Given the description of an element on the screen output the (x, y) to click on. 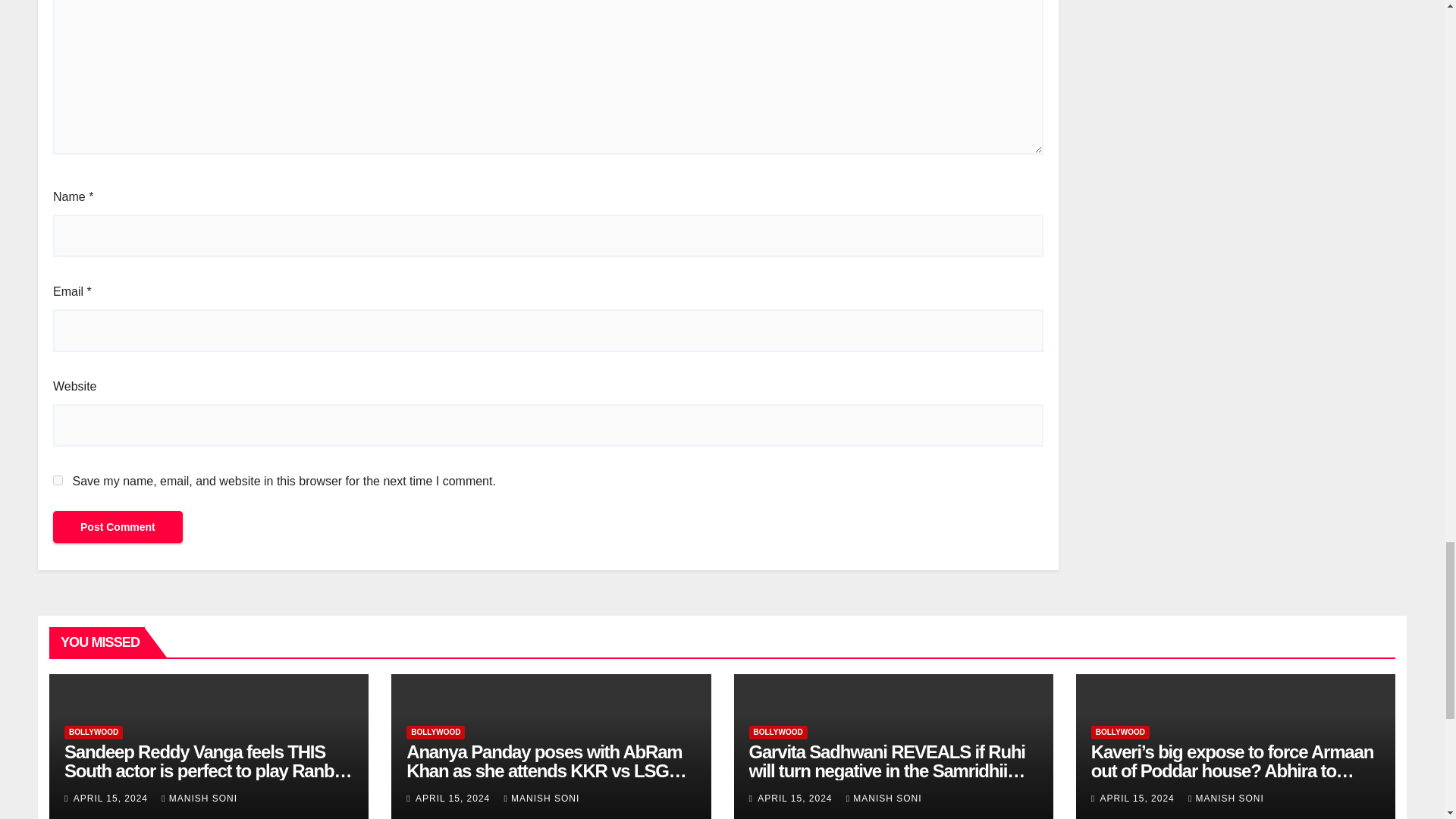
Post Comment (117, 526)
yes (57, 480)
